Given the description of an element on the screen output the (x, y) to click on. 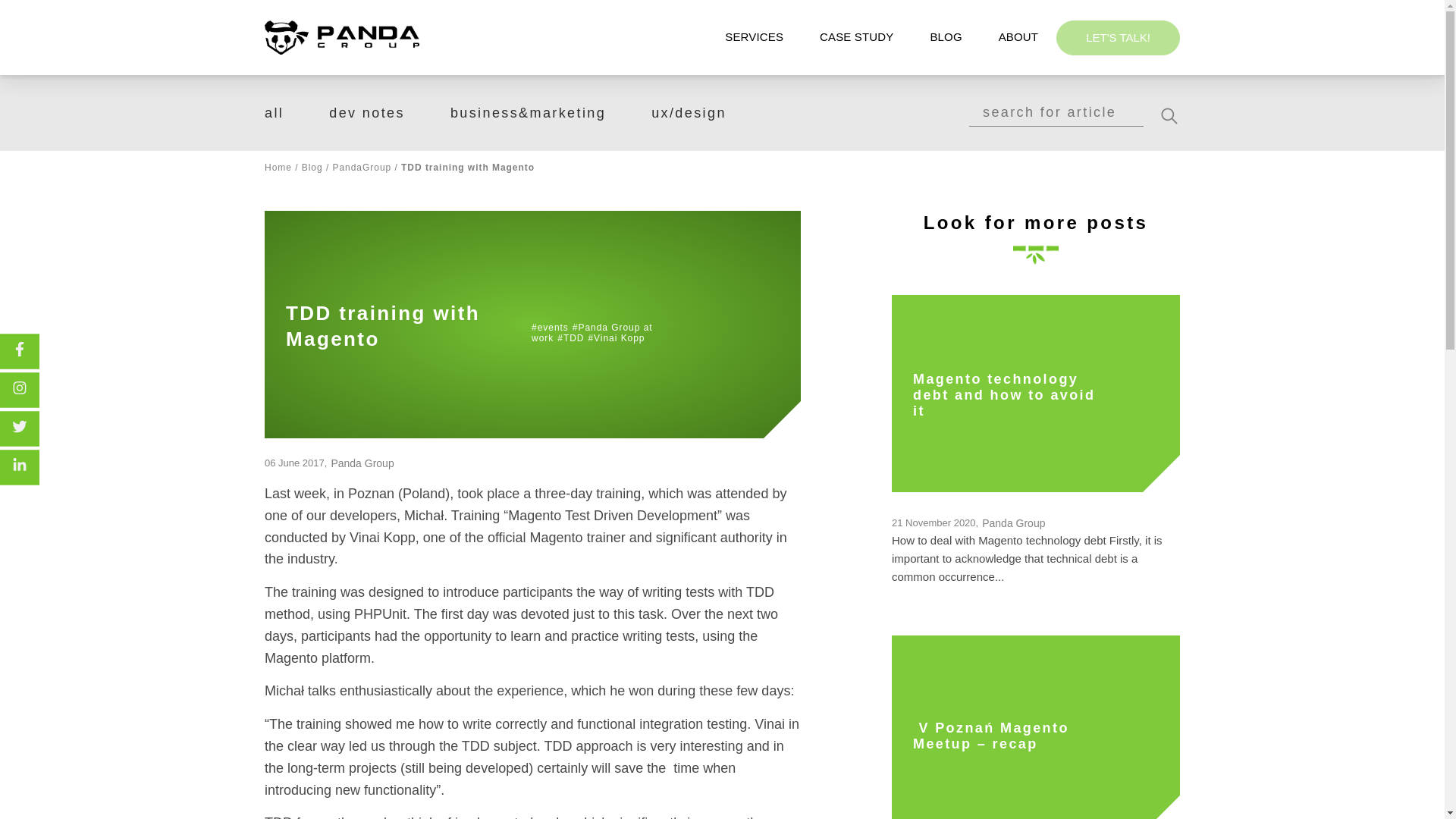
dev notes (366, 111)
LET'S TALK! (1118, 36)
SERVICES (754, 36)
LET'S TALK! (1118, 39)
BLOG (945, 36)
all (273, 111)
ABOUT (1018, 36)
CASE STUDY (856, 36)
